Given the description of an element on the screen output the (x, y) to click on. 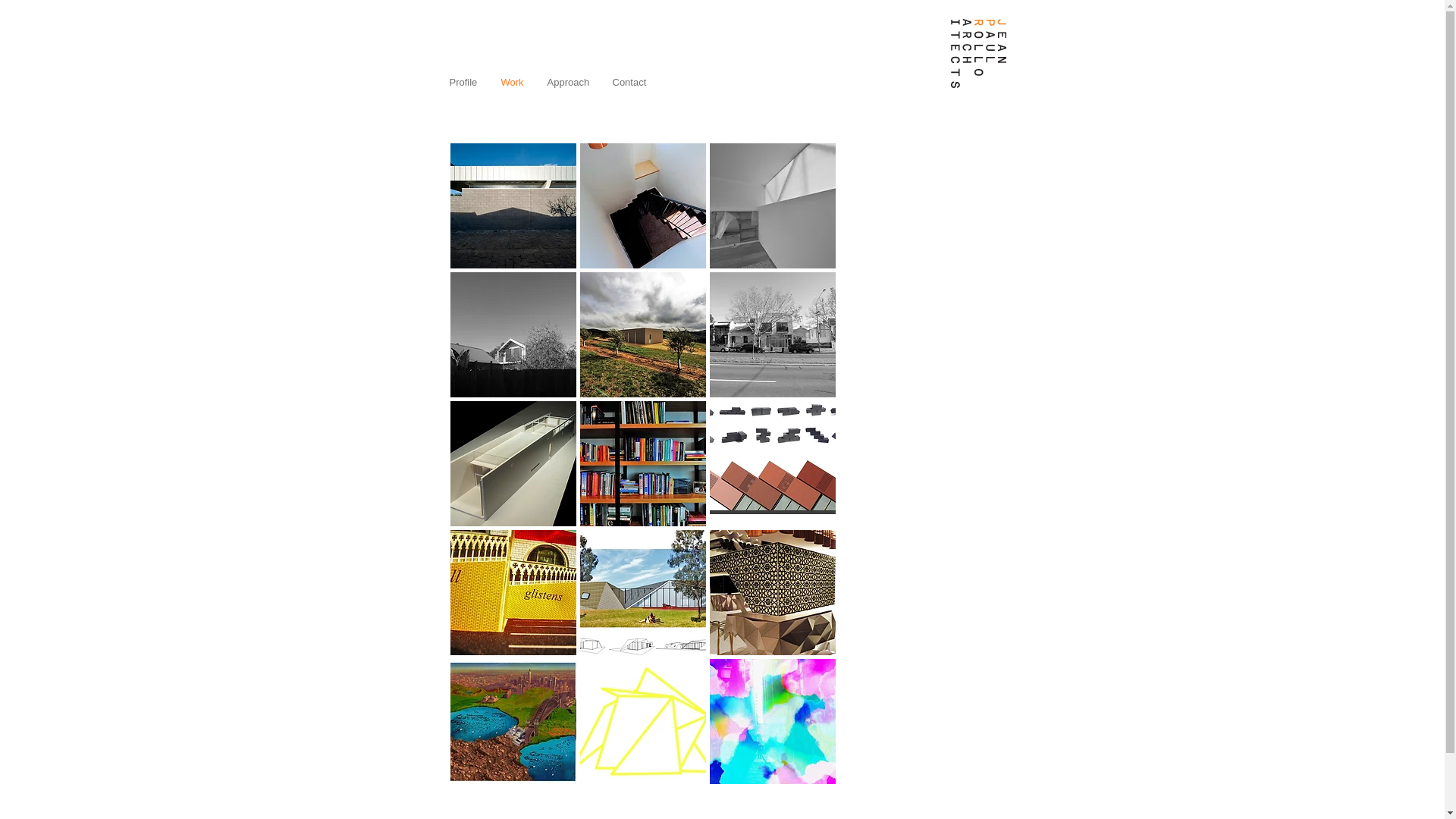
JPRA-logo Element type: hover (978, 53)
Work Element type: text (512, 81)
Profile Element type: text (463, 81)
Contact Element type: text (628, 81)
Approach Element type: text (567, 81)
